Given the description of an element on the screen output the (x, y) to click on. 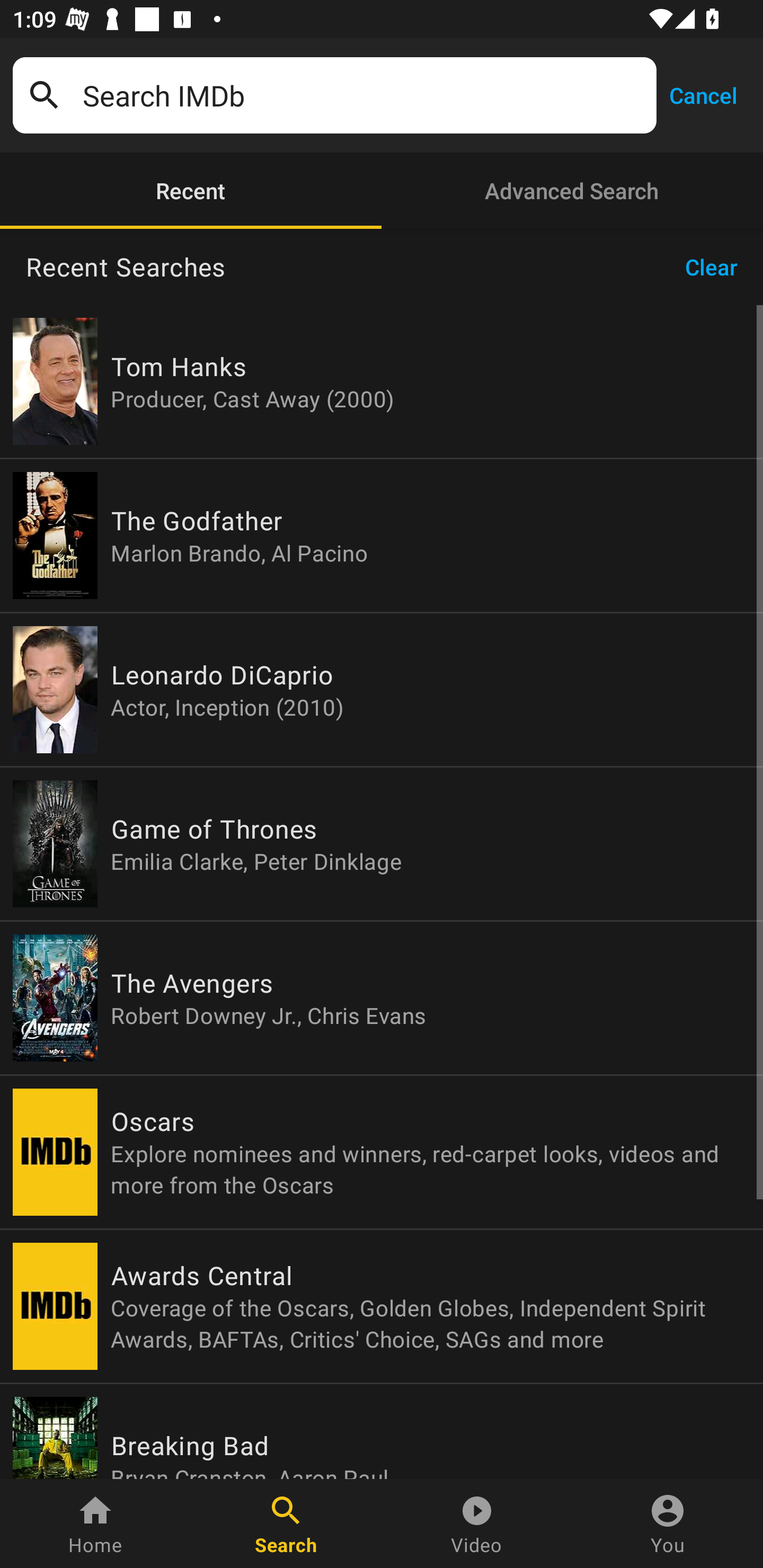
Cancel (703, 94)
Search IMDb (363, 95)
Advanced Search (572, 190)
Clear (717, 266)
Tom Hanks Producer, Cast Away (2000) (381, 381)
The Godfather Marlon Brando, Al Pacino (381, 535)
Leonardo DiCaprio Actor, Inception (2010) (381, 689)
Game of Thrones Emilia Clarke, Peter Dinklage (381, 844)
The Avengers Robert Downey Jr., Chris Evans (381, 997)
Breaking Bad Bryan Cranston, Aaron Paul (381, 1431)
Home (95, 1523)
Video (476, 1523)
You (667, 1523)
